Given the description of an element on the screen output the (x, y) to click on. 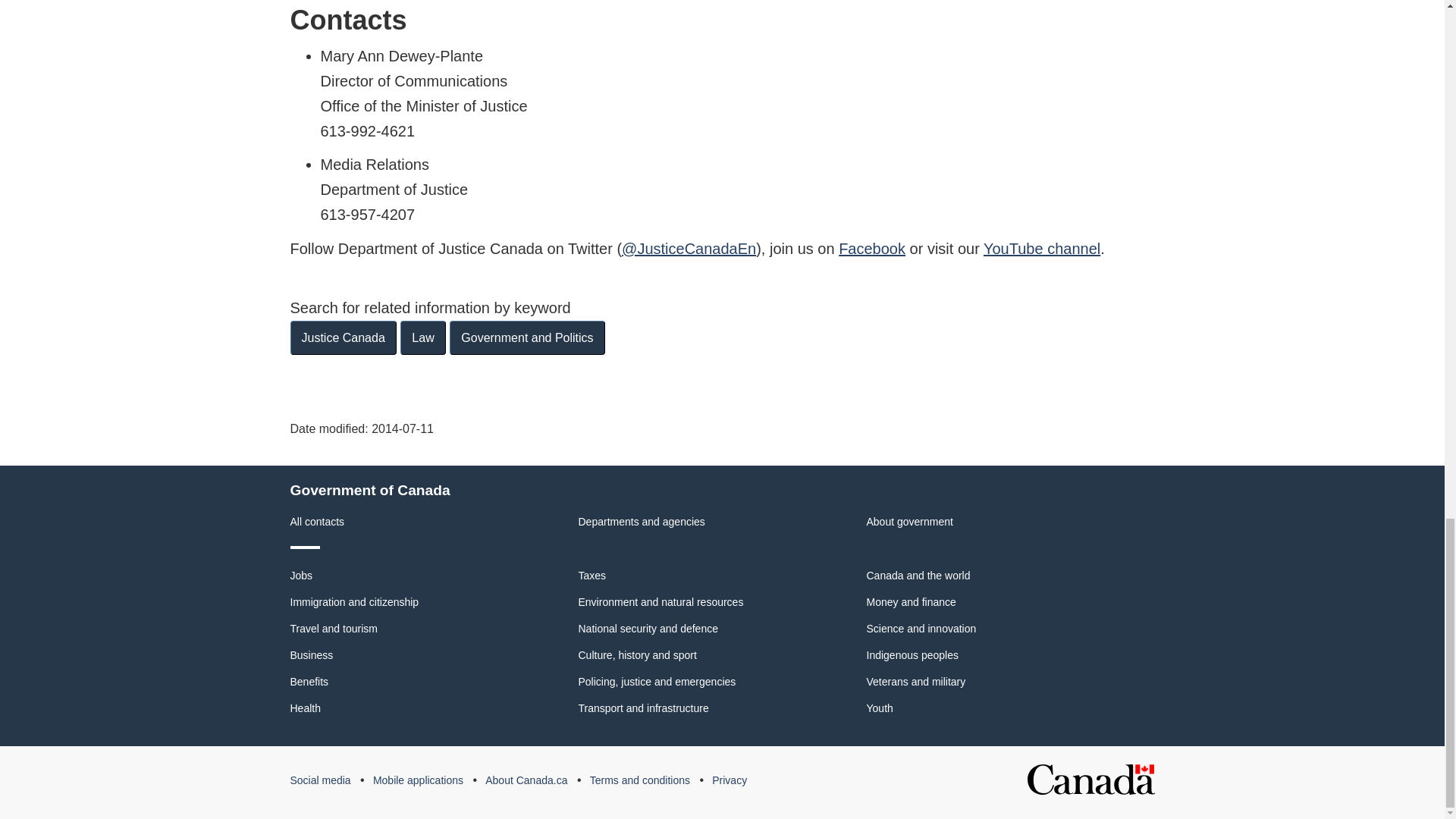
Government and Politics (526, 337)
Benefits (309, 681)
Travel and tourism (333, 628)
Jobs (301, 575)
Departments and agencies (641, 521)
About government (909, 521)
Justice Canada (342, 337)
Health (304, 707)
Business (311, 654)
Law (422, 337)
YouTube channel (1042, 248)
Taxes (591, 575)
Facebook (871, 248)
All contacts (316, 521)
Immigration and citizenship (354, 602)
